Given the description of an element on the screen output the (x, y) to click on. 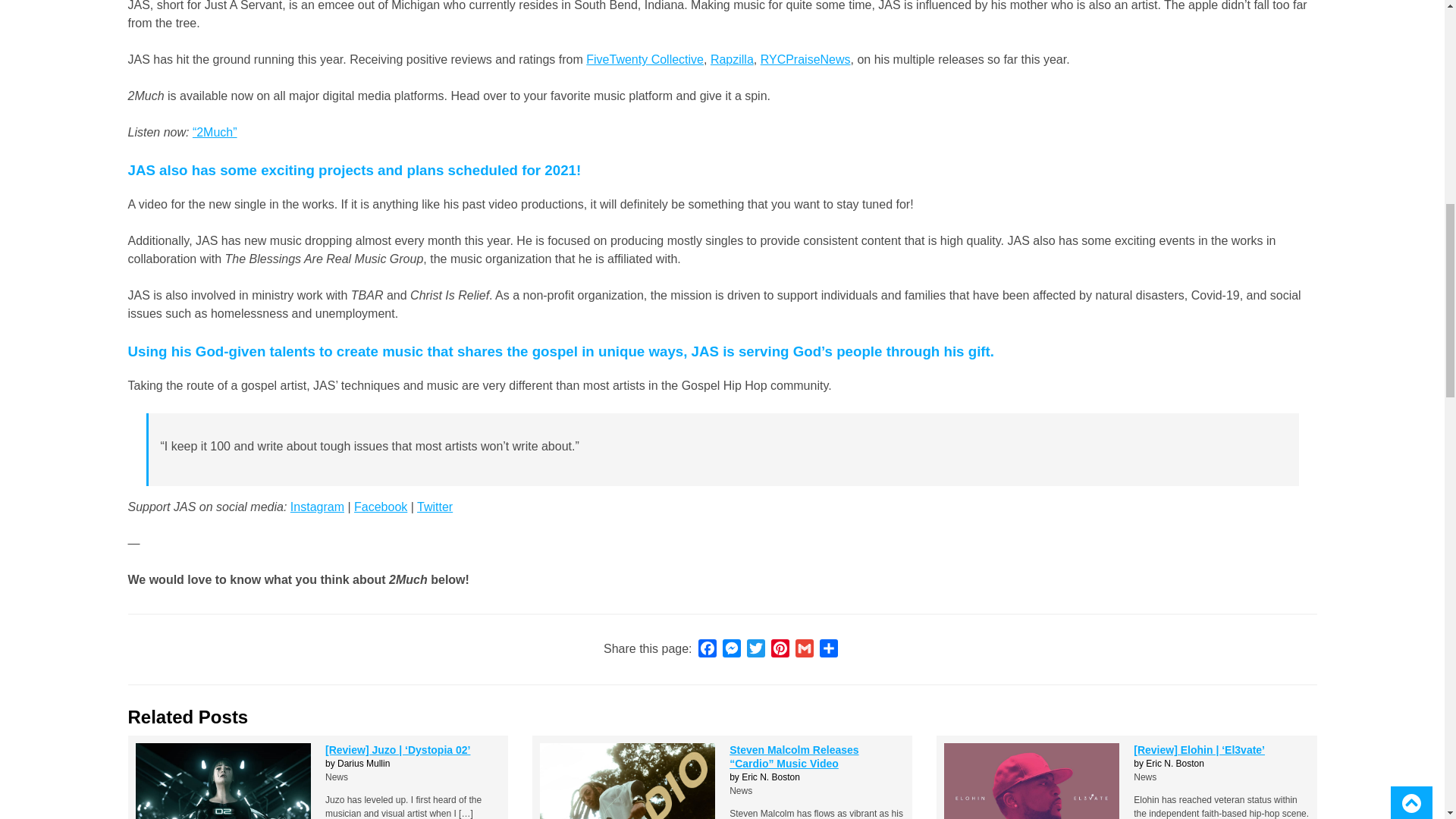
Facebook (707, 649)
Pinterest (780, 649)
Messenger (731, 649)
Twitter (756, 649)
Gmail (804, 649)
